Given the description of an element on the screen output the (x, y) to click on. 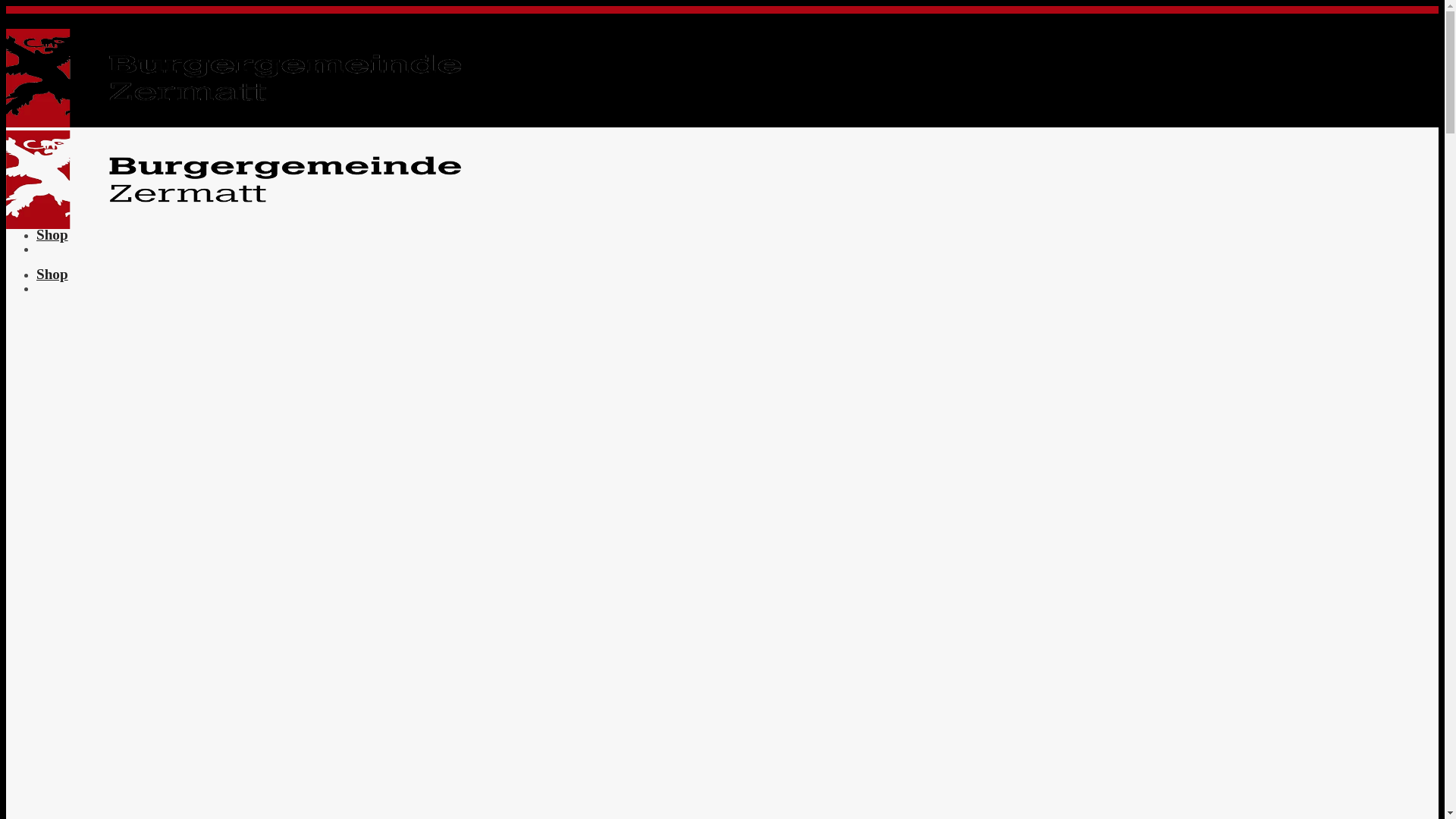
Shop Element type: text (52, 268)
Skip to content Element type: text (5, 5)
Shop Element type: text (52, 229)
Burgergemeide Zermatt - Burgergemeinde Zermatt Element type: hover (233, 173)
